Given the description of an element on the screen output the (x, y) to click on. 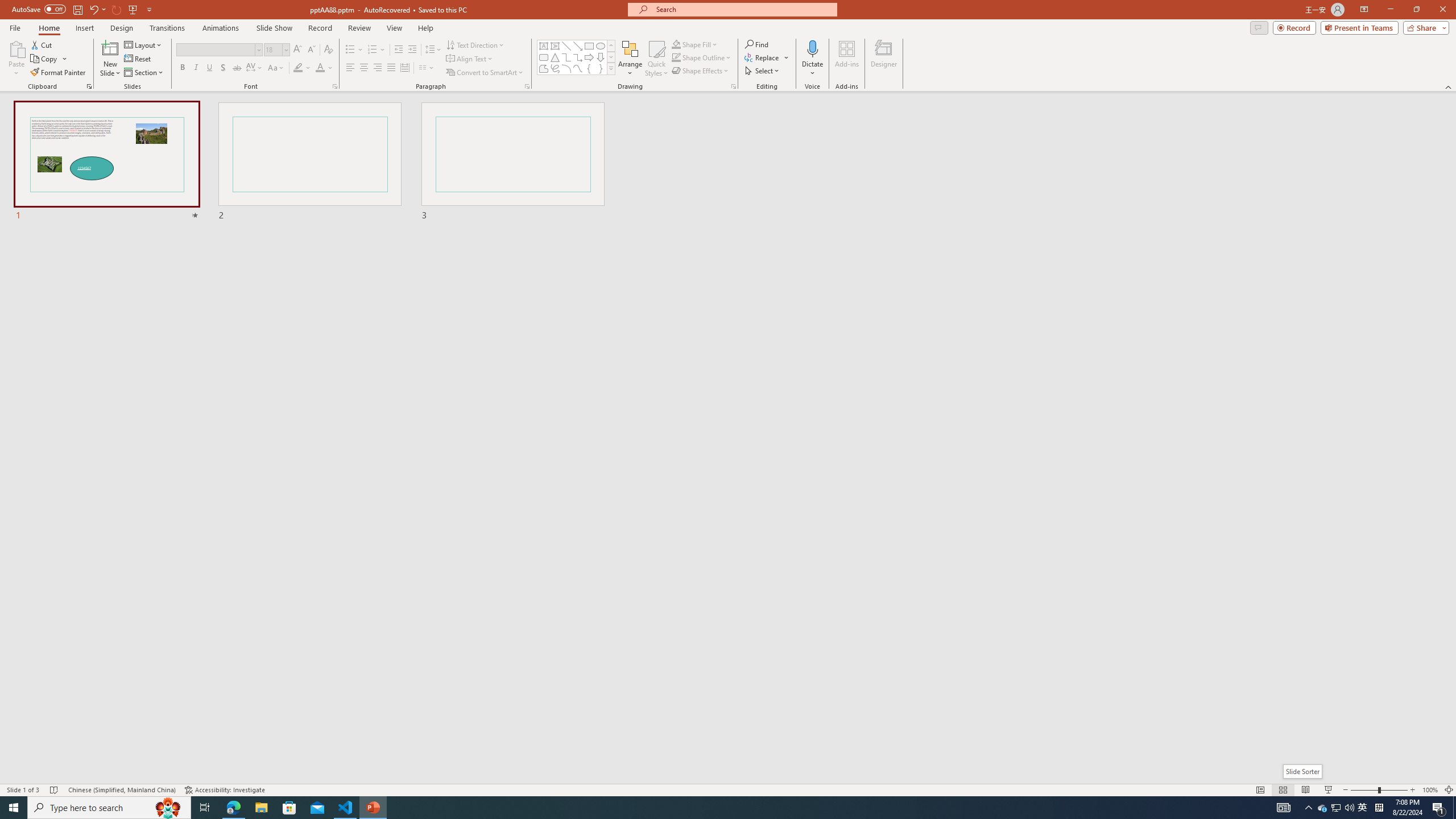
Rectangle: Rounded Corners (543, 57)
Decrease Font Size (310, 49)
Slide Sorter (1302, 771)
Redo (117, 9)
Dictate (812, 48)
Section (144, 72)
Transitions (167, 28)
Ribbon Display Options (1364, 9)
Zoom In (1412, 790)
Paragraph... (526, 85)
Class: MsoCommandBar (728, 789)
Shape Fill Aqua, Accent 2 (675, 44)
Font Size (273, 49)
Change Case (276, 67)
